Given the description of an element on the screen output the (x, y) to click on. 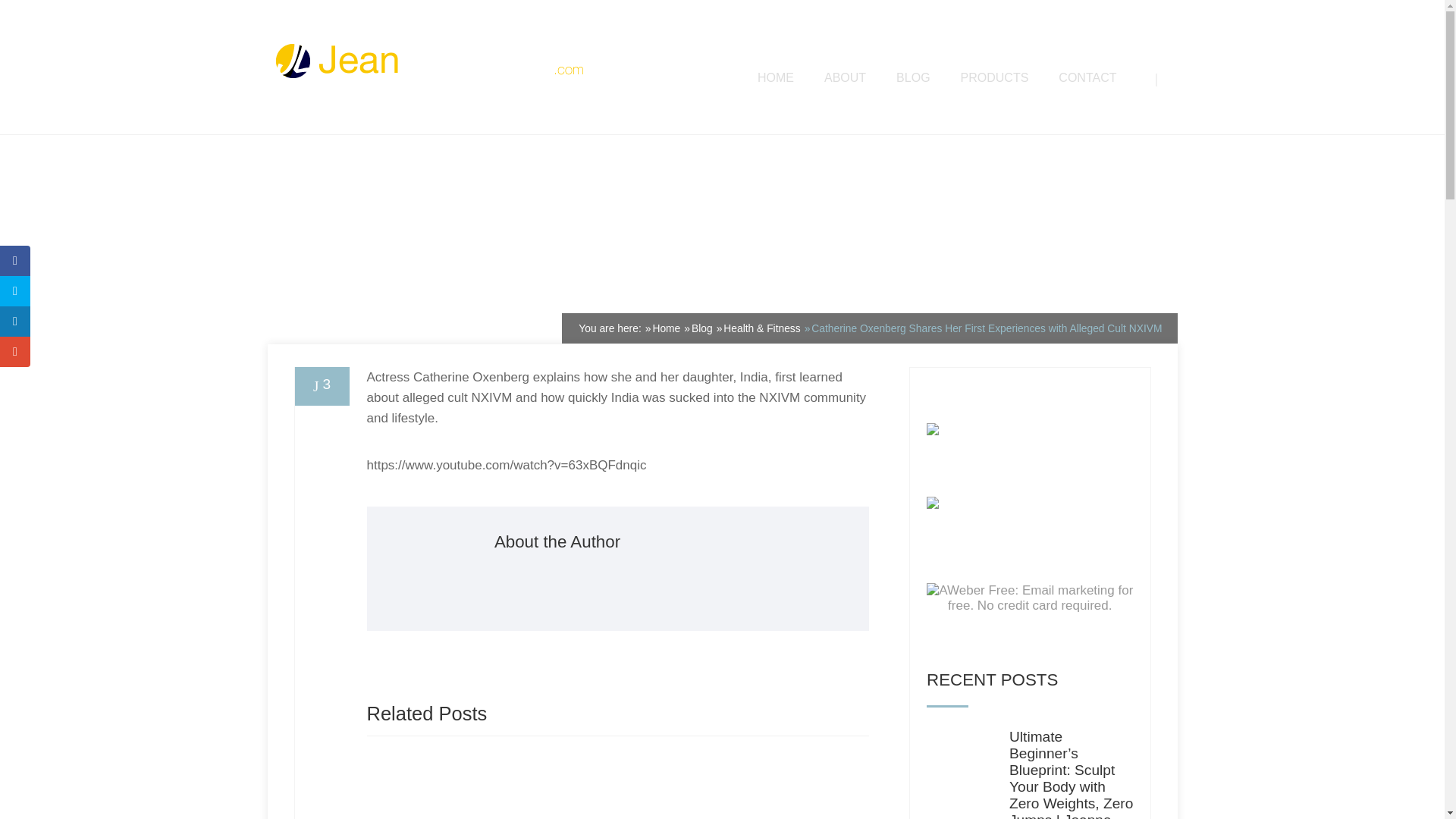
HOME (775, 78)
PRODUCTS (994, 78)
Blog (702, 328)
BLOG (913, 78)
ABOUT (845, 78)
CONTACT (1087, 78)
Home (665, 328)
